Given the description of an element on the screen output the (x, y) to click on. 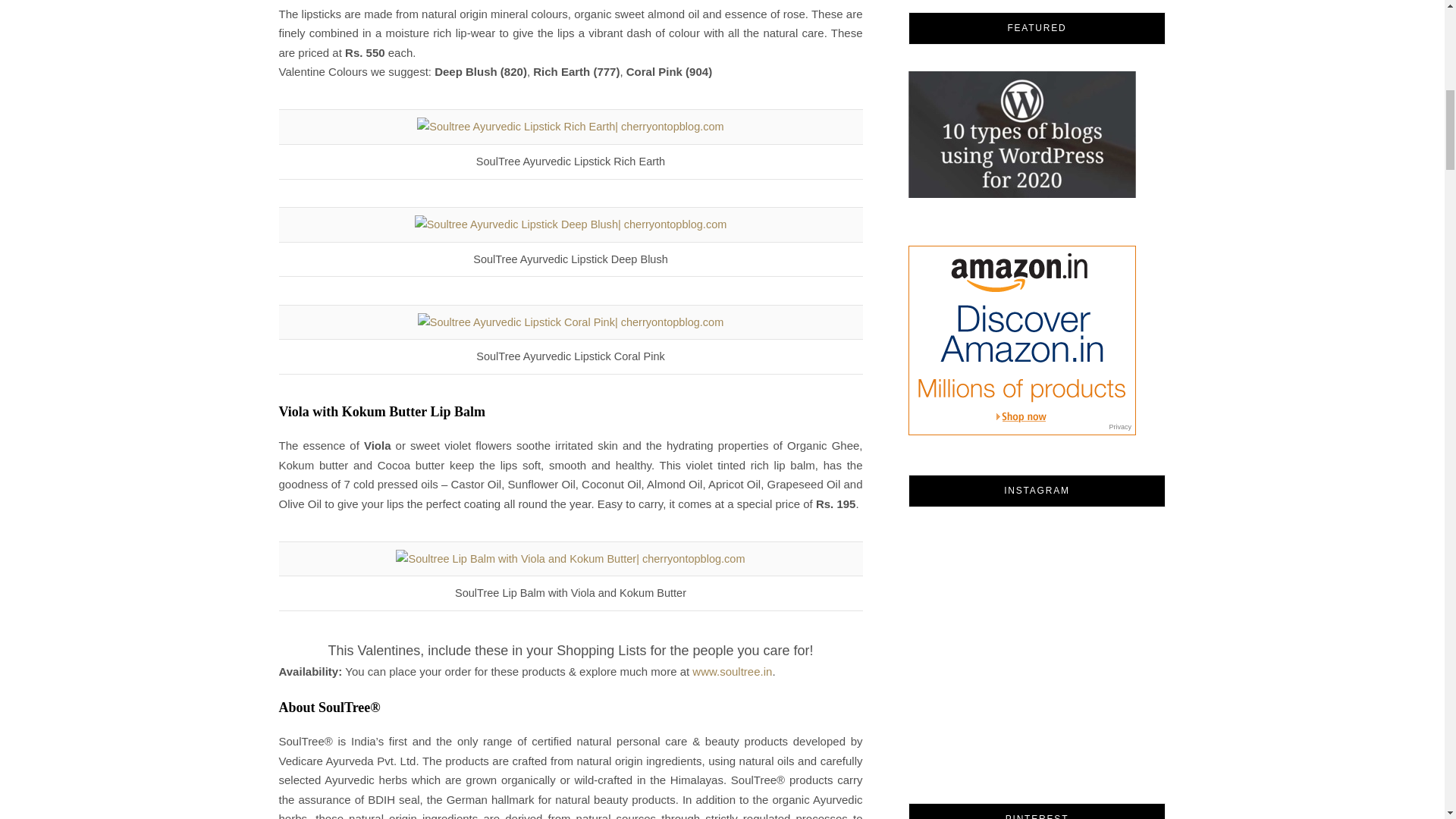
www.soultree.in (732, 671)
